Given the description of an element on the screen output the (x, y) to click on. 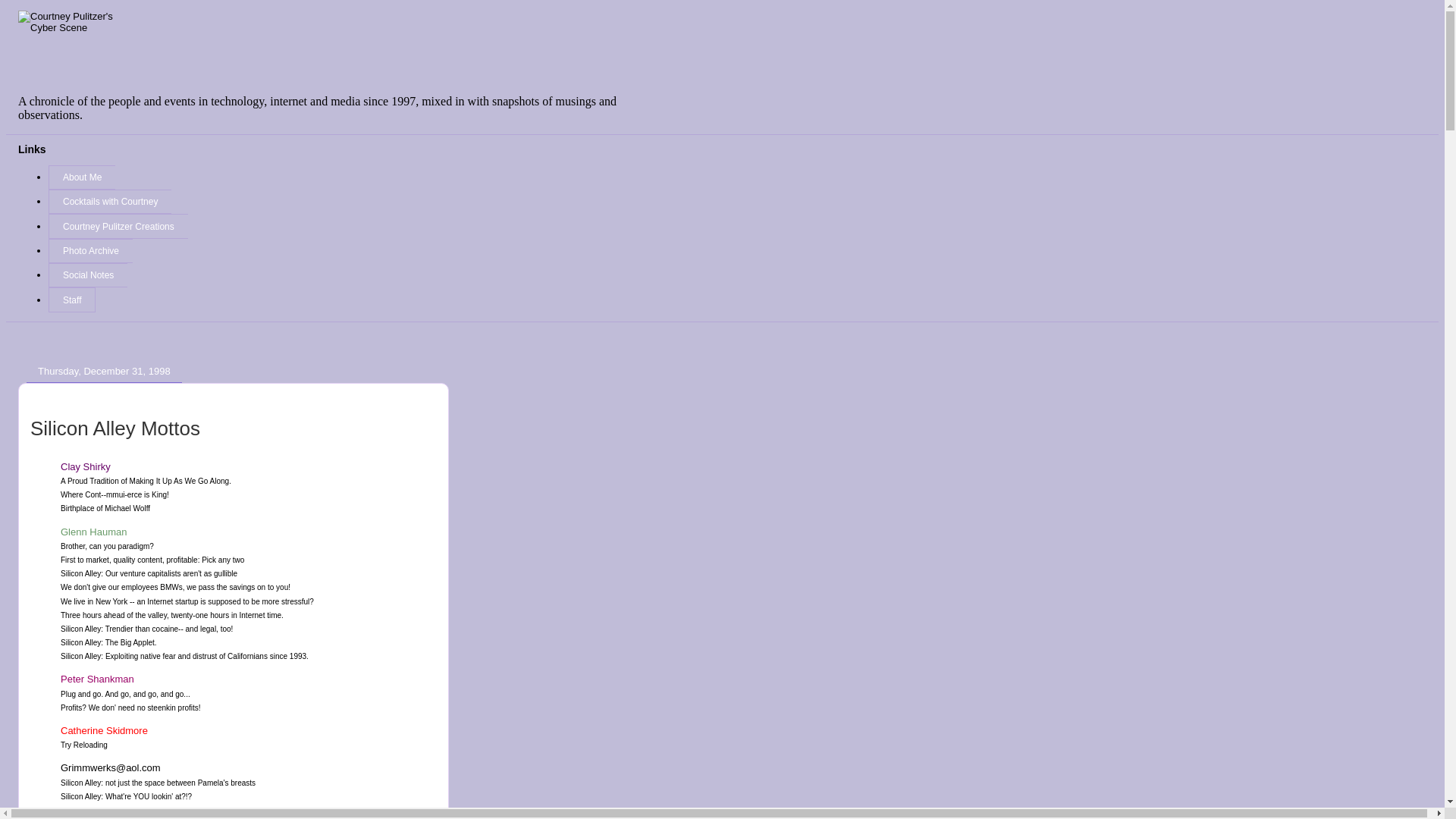
About Me (81, 177)
Silicon Alley Mottos (115, 427)
Photo Archive (90, 250)
Social Notes (88, 274)
Courtney Pulitzer Creations (117, 225)
Staff (72, 299)
Cocktails with Courtney (109, 201)
